Given the description of an element on the screen output the (x, y) to click on. 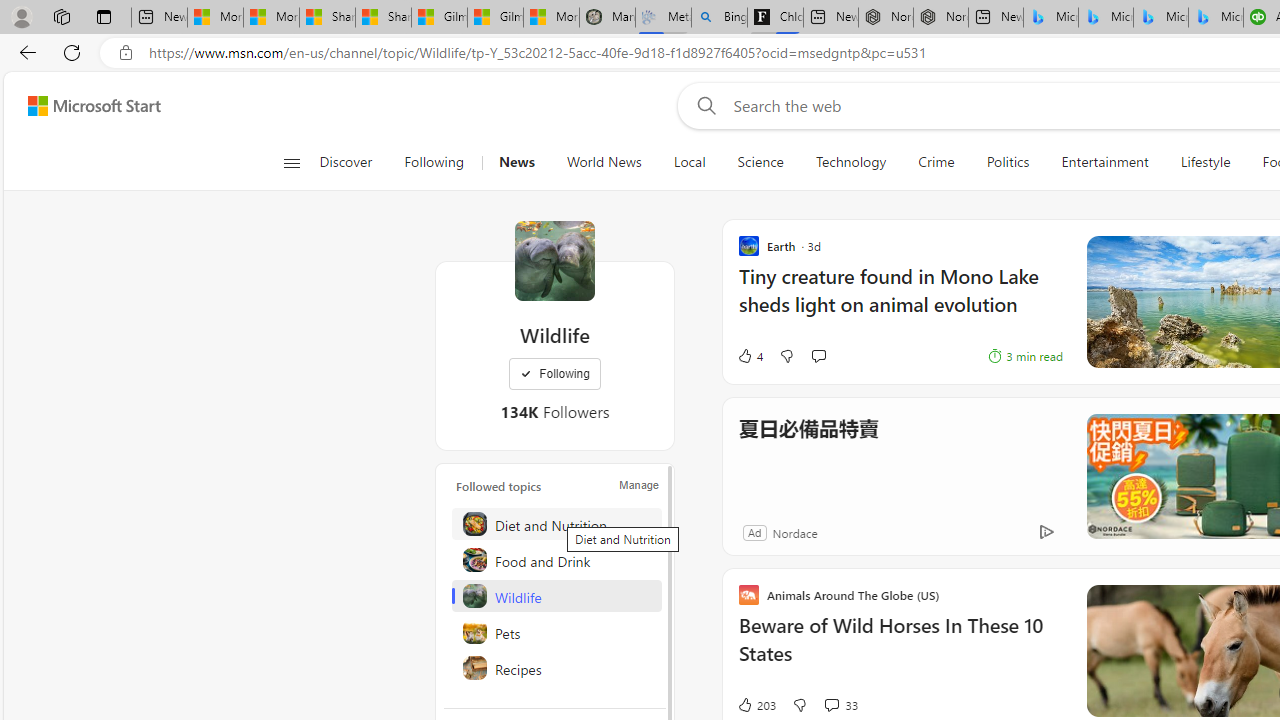
Technology (850, 162)
View comments 33 Comment (840, 704)
Lifestyle (1205, 162)
World News (603, 162)
Gilma and Hector both pose tropical trouble for Hawaii (495, 17)
Crime (936, 162)
